Given the description of an element on the screen output the (x, y) to click on. 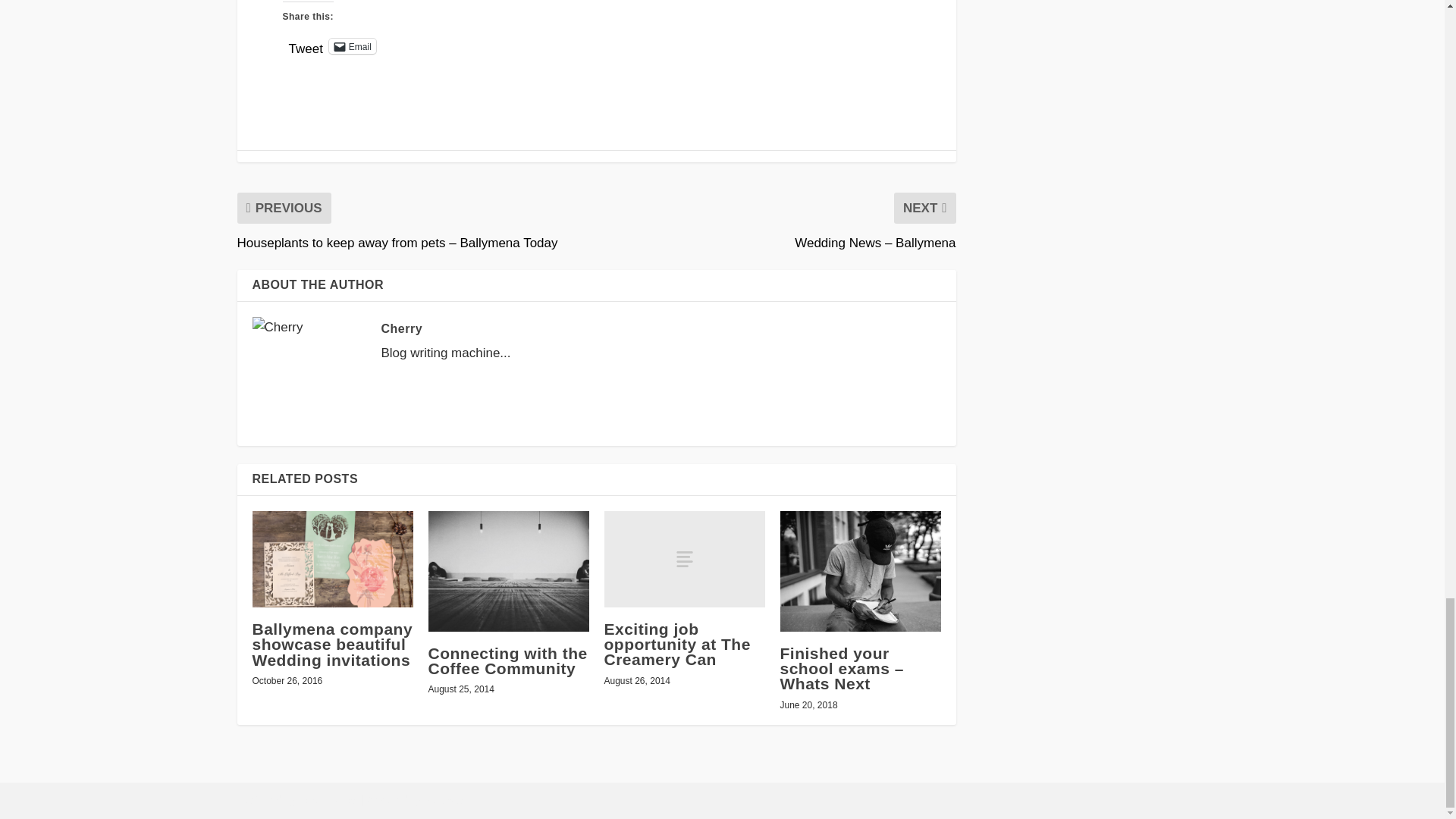
Click to email a link to a friend (352, 46)
Exciting job opportunity at The Creamery Can (676, 643)
Ballymena company showcase beautiful Wedding invitations (331, 643)
Exciting job opportunity at The Creamery Can (684, 559)
Cherry (401, 328)
Email (352, 46)
Ballymena company showcase beautiful Wedding invitations (331, 559)
Tweet (304, 45)
Connecting with the Coffee Community (507, 660)
View all posts by Cherry (401, 328)
Premium WordPress Themes (327, 800)
Connecting with the Coffee Community (508, 571)
